Given the description of an element on the screen output the (x, y) to click on. 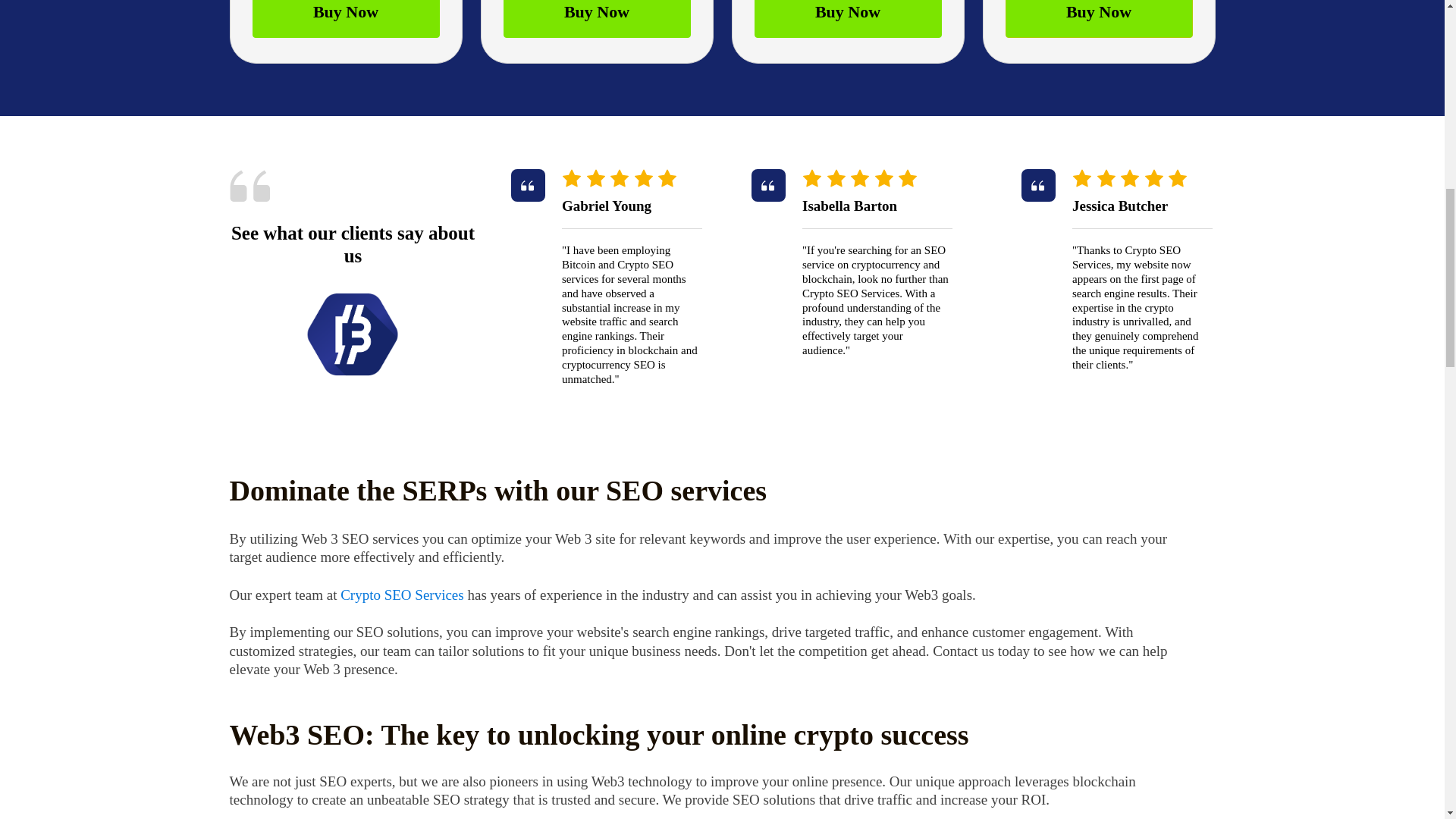
Buy Now (596, 18)
Buy Now (847, 18)
Buy Now (1099, 18)
Buy Now (345, 18)
Crypto SEO Services (402, 594)
